Given the description of an element on the screen output the (x, y) to click on. 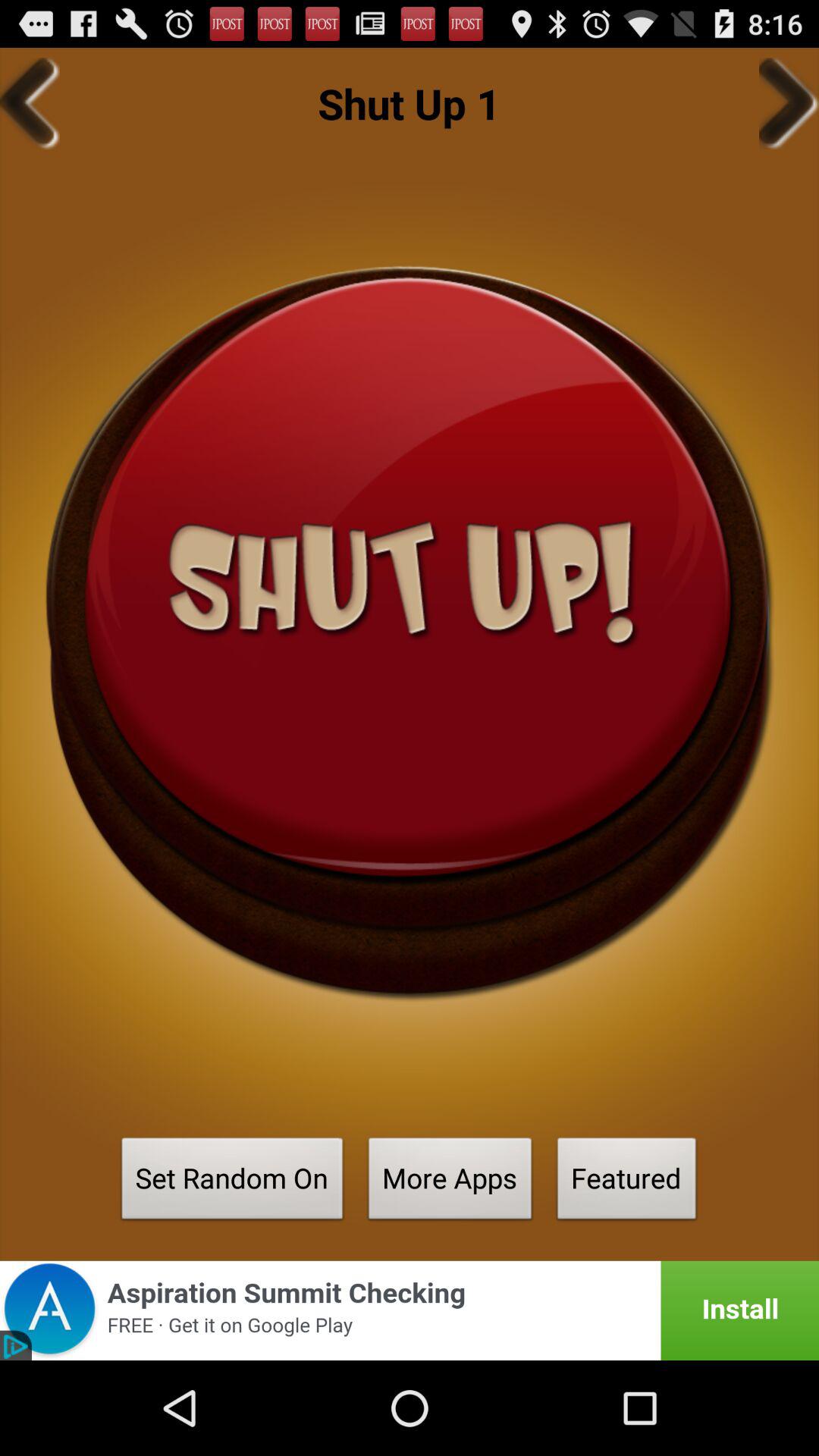
advertisement link (409, 1310)
